Given the description of an element on the screen output the (x, y) to click on. 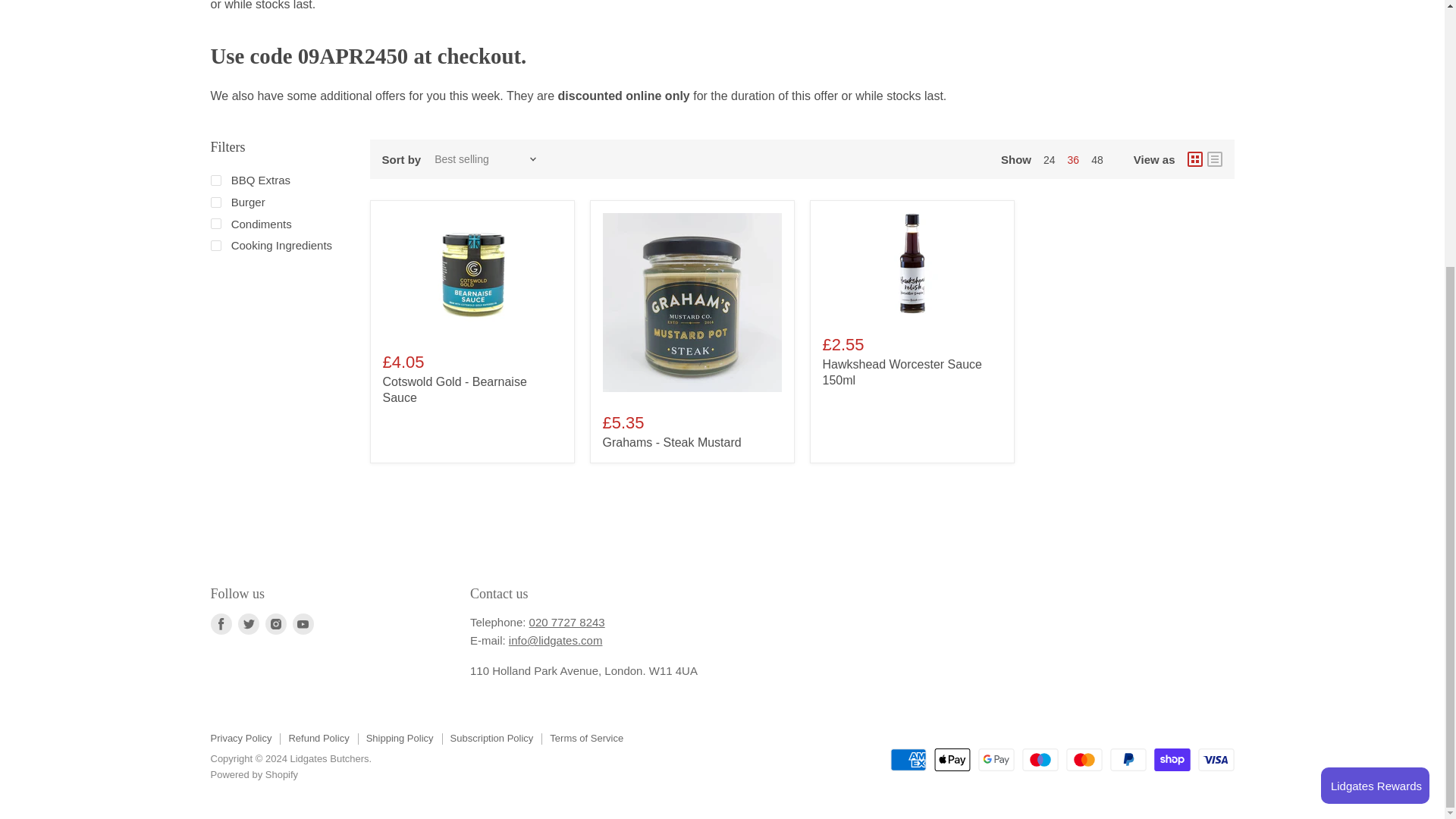
Youtube (303, 623)
Email Lidgates (555, 640)
Facebook (221, 623)
Twitter (248, 623)
Instagram (275, 623)
LoyaltyLion beacon (1374, 398)
